Given the description of an element on the screen output the (x, y) to click on. 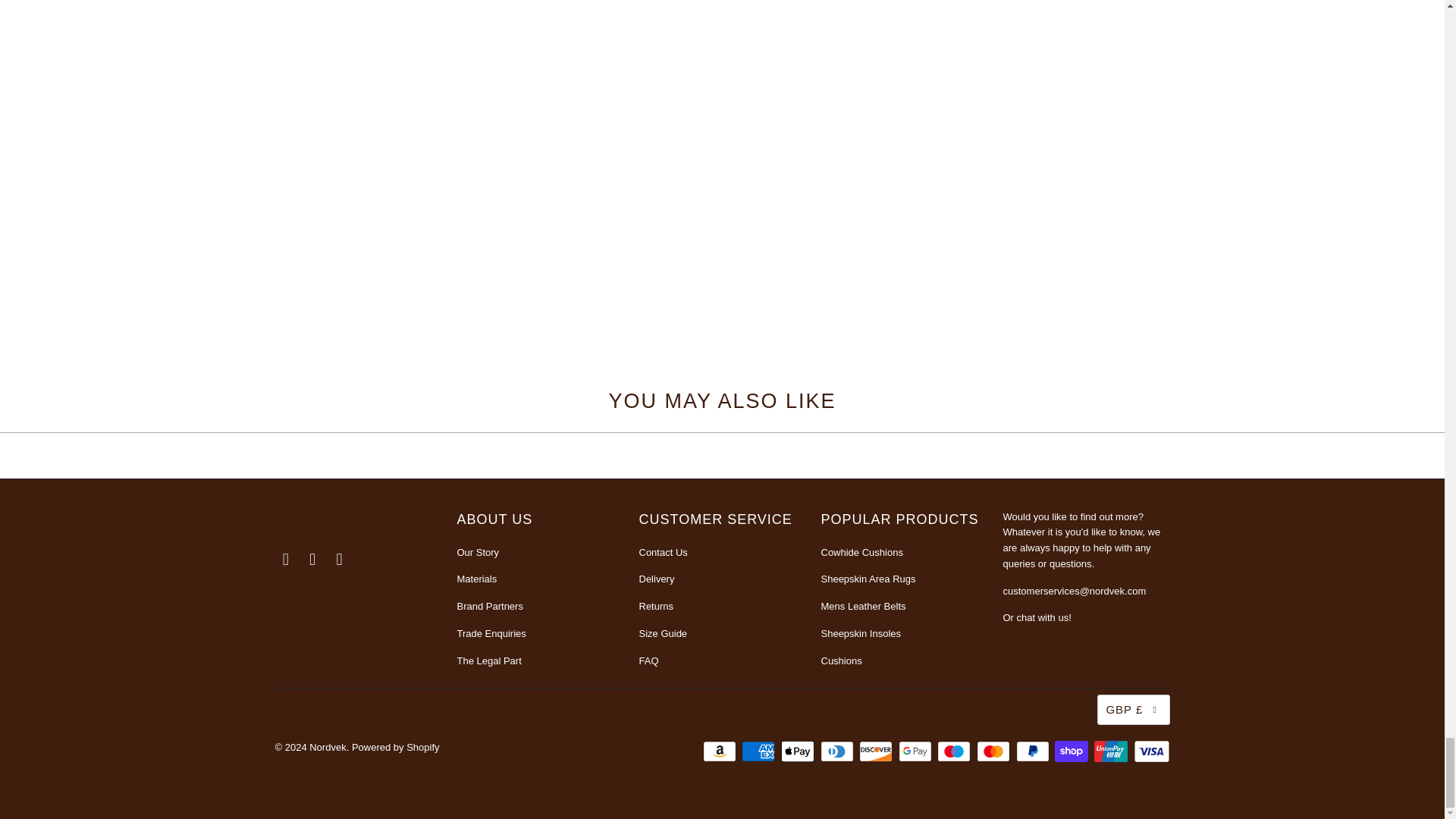
Shop Pay (1072, 751)
Email Nordvek (339, 558)
Amazon (721, 751)
PayPal (1034, 751)
Discover (877, 751)
Nordvek on Facebook (286, 558)
Apple Pay (798, 751)
Union Pay (1112, 751)
Nordvek on Instagram (312, 558)
Visa (1150, 751)
American Express (759, 751)
Diners Club (839, 751)
Maestro (955, 751)
Google Pay (916, 751)
Mastercard (994, 751)
